Given the description of an element on the screen output the (x, y) to click on. 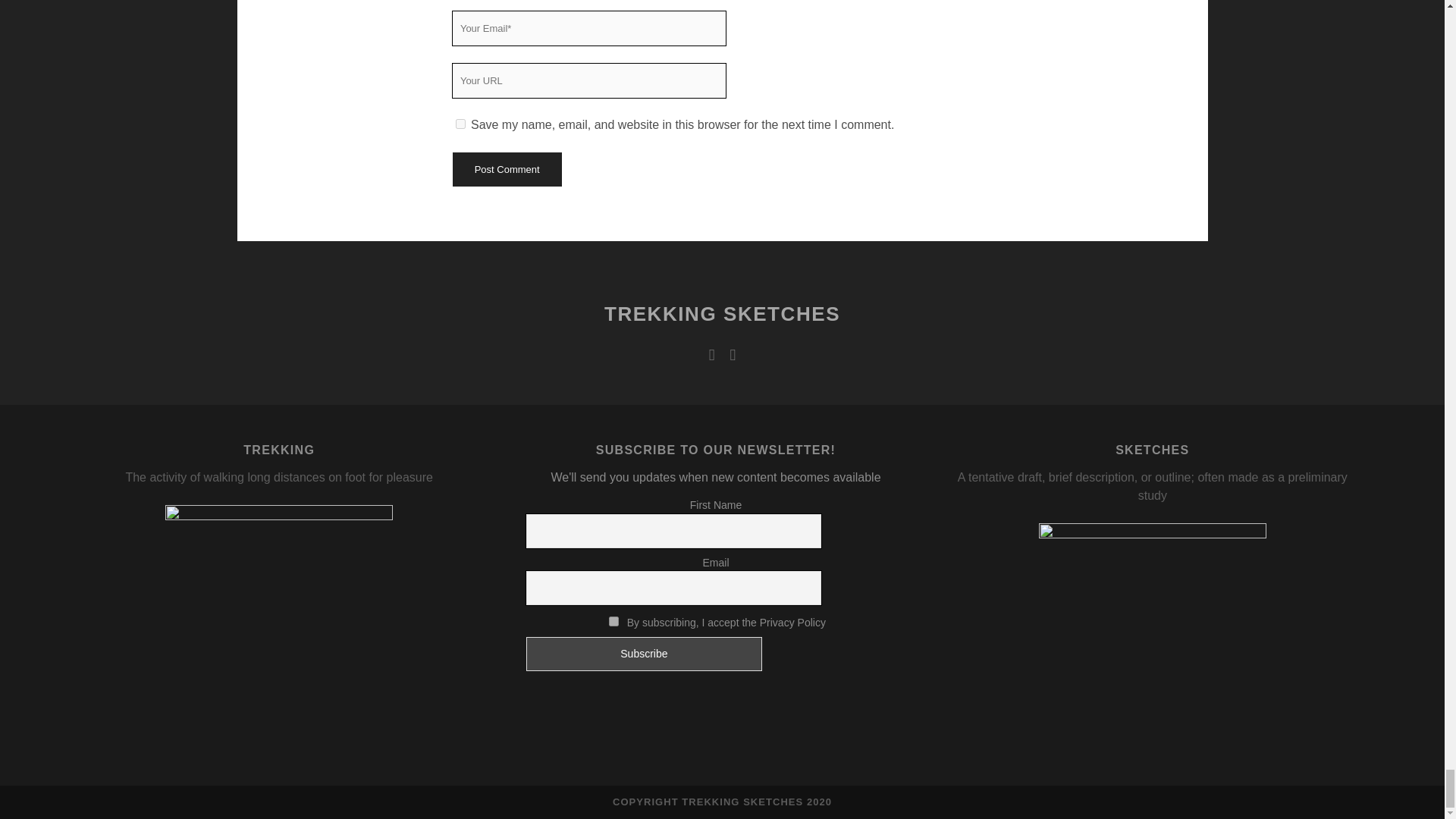
yes (459, 123)
Subscribe (643, 653)
on (613, 621)
Post Comment (505, 169)
